Given the description of an element on the screen output the (x, y) to click on. 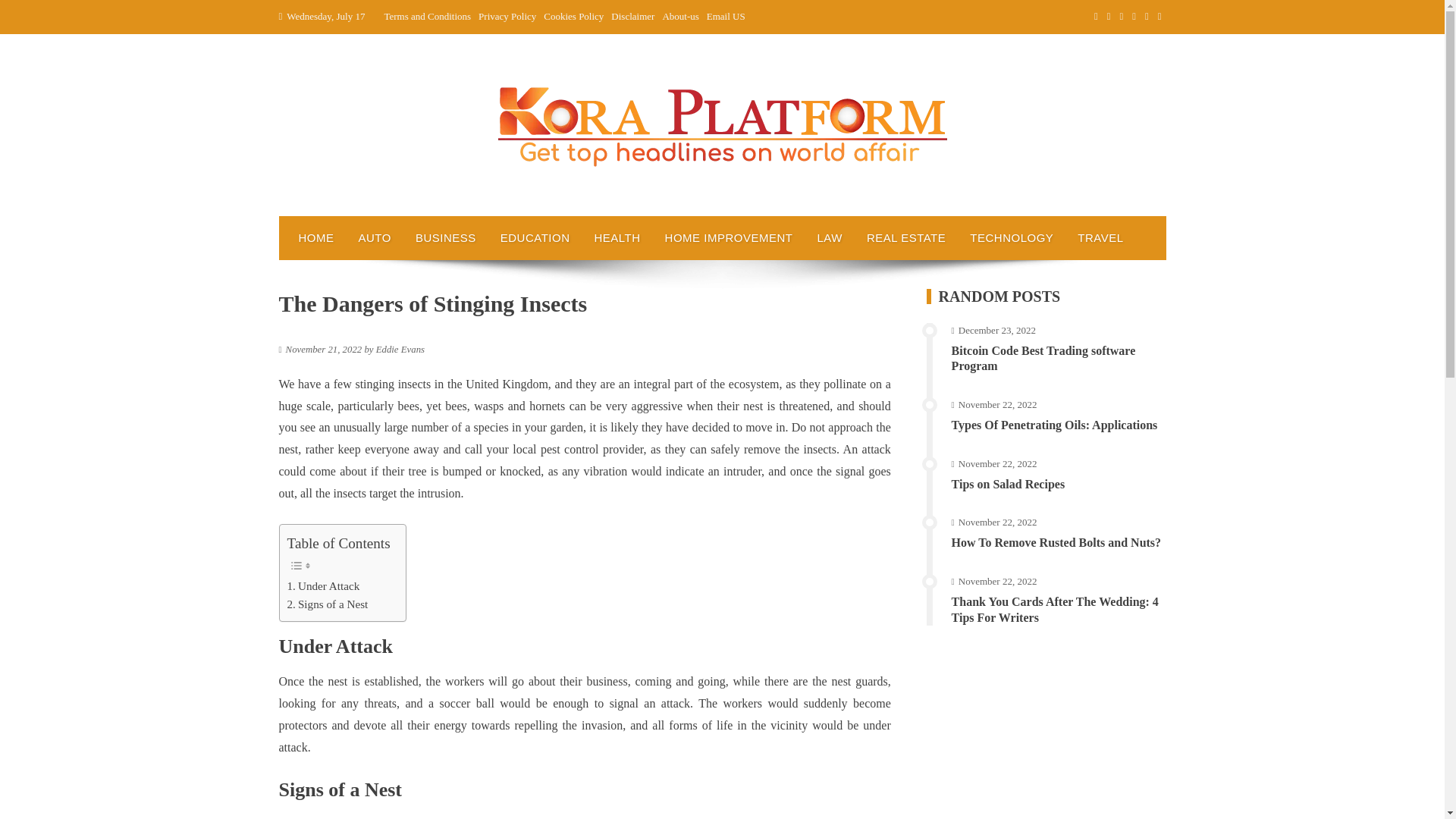
Under Attack (322, 586)
AUTO (374, 238)
LAW (829, 238)
TECHNOLOGY (1011, 238)
Bitcoin Code Best Trading software Program (1043, 358)
Signs of a Nest (327, 604)
How To Remove Rusted Bolts and Nuts? (1056, 542)
Disclaimer (632, 16)
REAL ESTATE (906, 238)
HOME IMPROVEMENT (728, 238)
BUSINESS (445, 238)
About-us (680, 16)
Email US (725, 16)
HEALTH (617, 238)
HOME (316, 238)
